Given the description of an element on the screen output the (x, y) to click on. 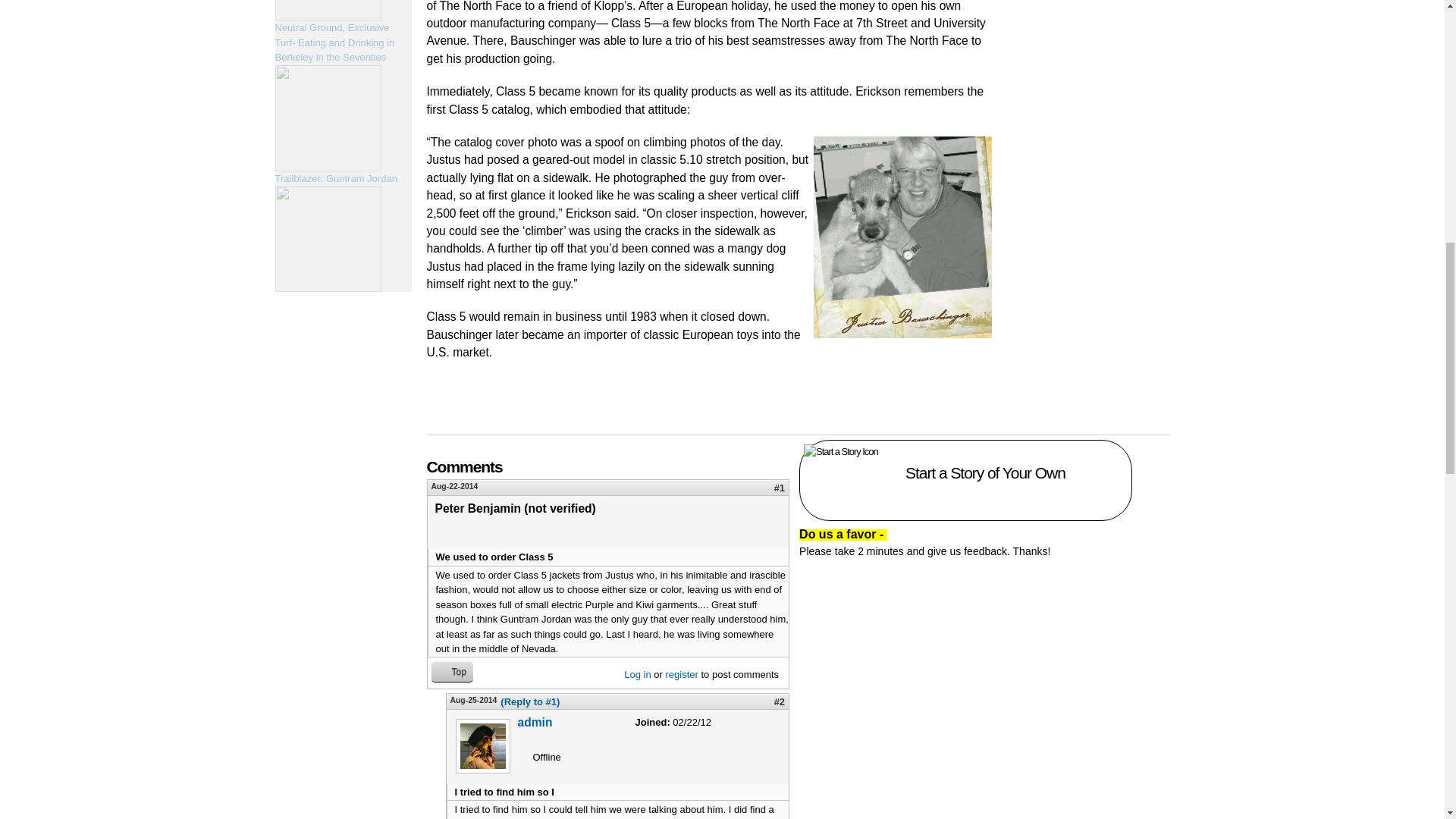
admin's picture (481, 746)
Jump to top of page (450, 670)
